Given the description of an element on the screen output the (x, y) to click on. 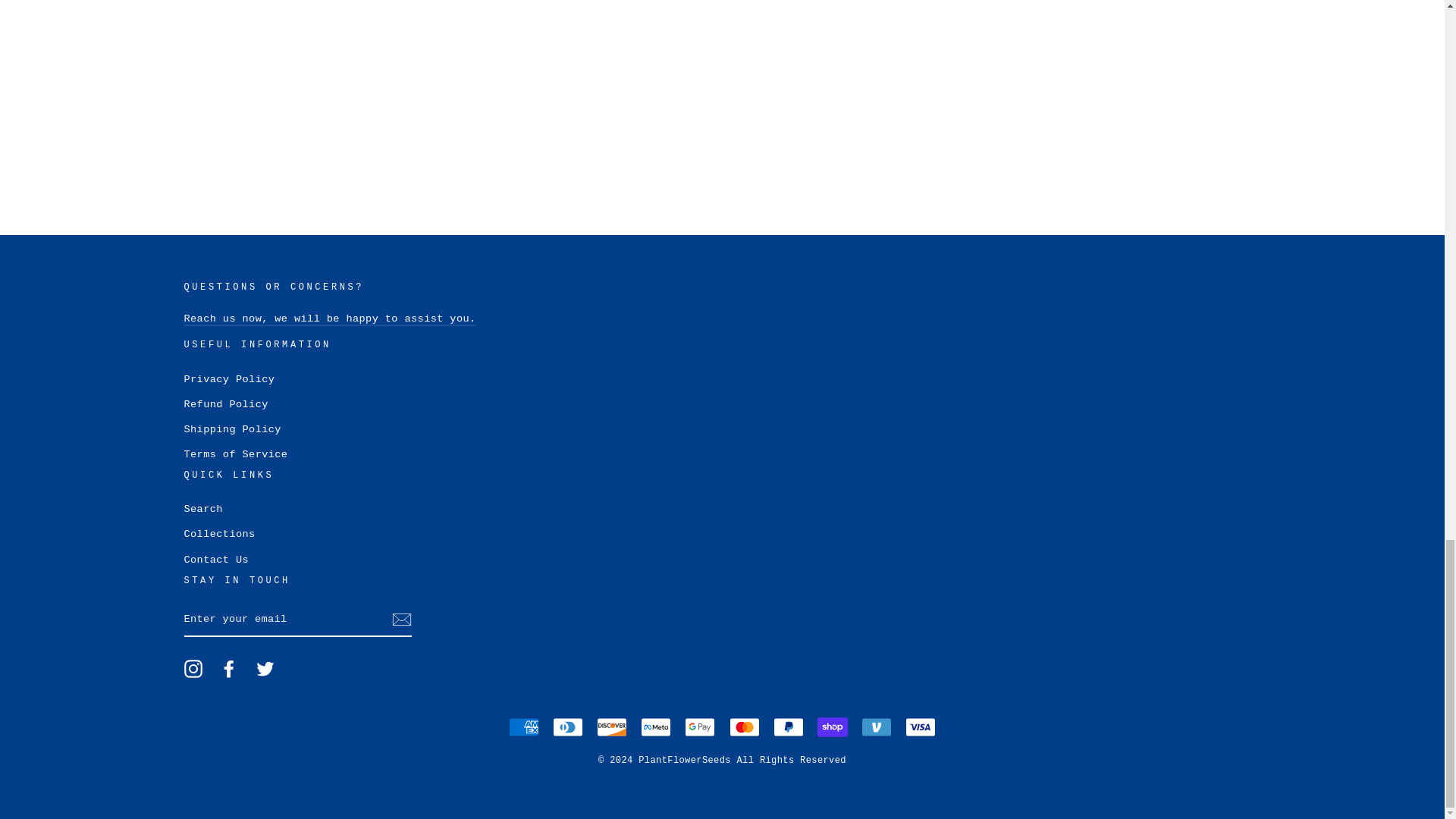
PlantFlowerSeeds on Instagram (192, 669)
Discover (611, 726)
PayPal (788, 726)
PlantFlowerSeeds on Twitter (265, 669)
Meta Pay (655, 726)
American Express (523, 726)
Contact Us (329, 318)
Diners Club (568, 726)
Google Pay (699, 726)
Mastercard (744, 726)
PlantFlowerSeeds on Facebook (228, 669)
